Given the description of an element on the screen output the (x, y) to click on. 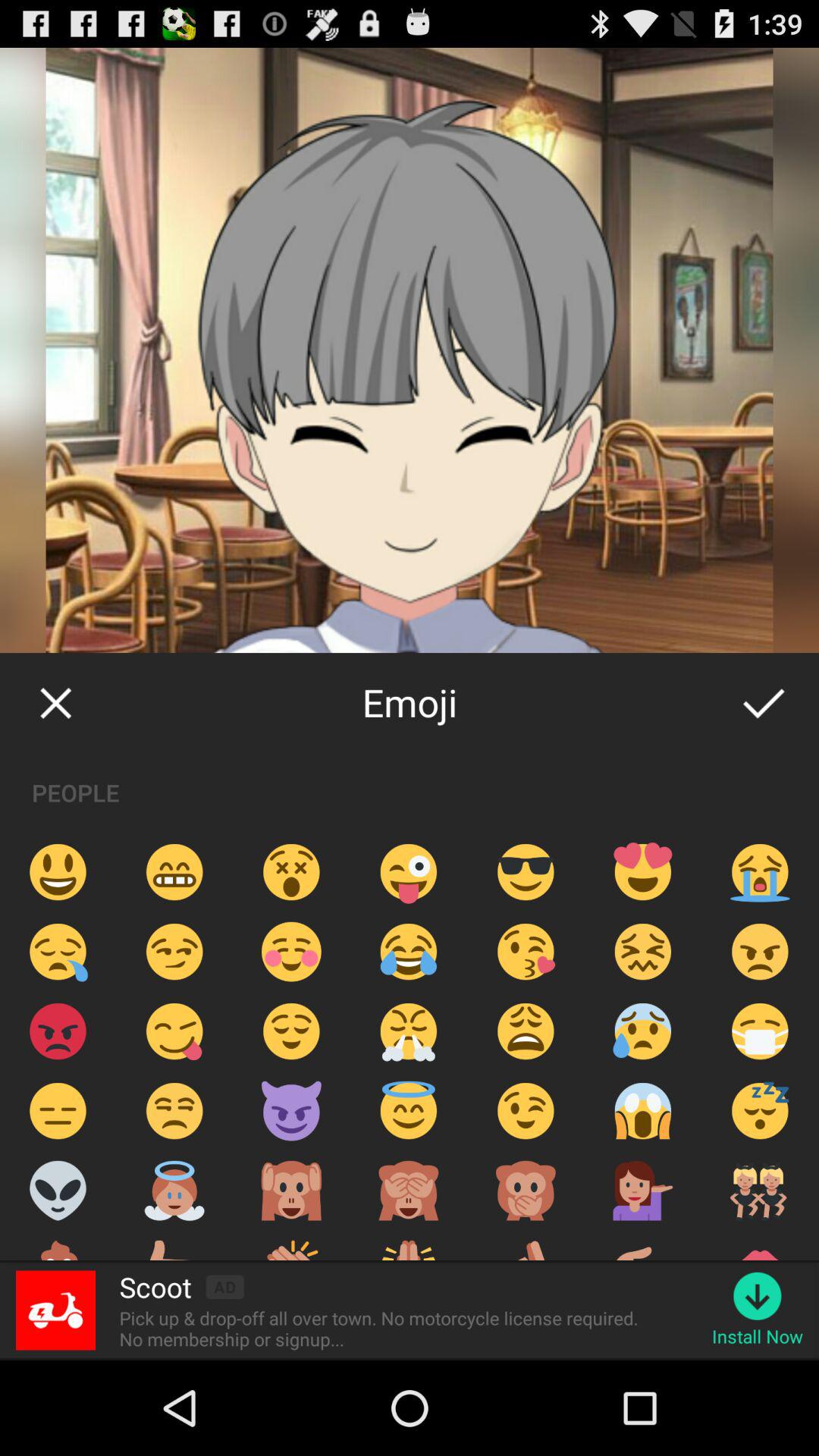
choose the app to the right of pick up drop (757, 1336)
